Given the description of an element on the screen output the (x, y) to click on. 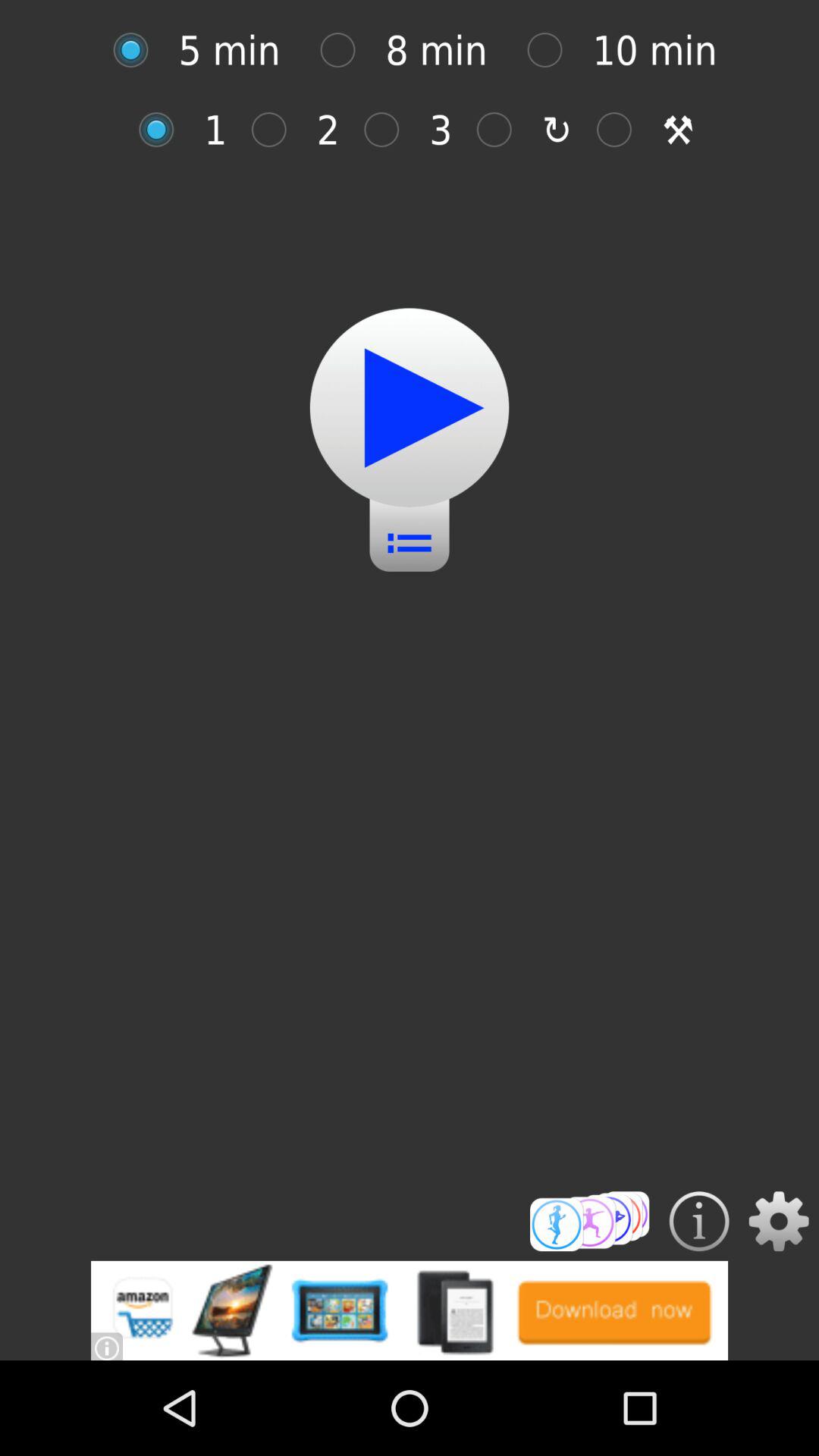
start workout (409, 407)
